Given the description of an element on the screen output the (x, y) to click on. 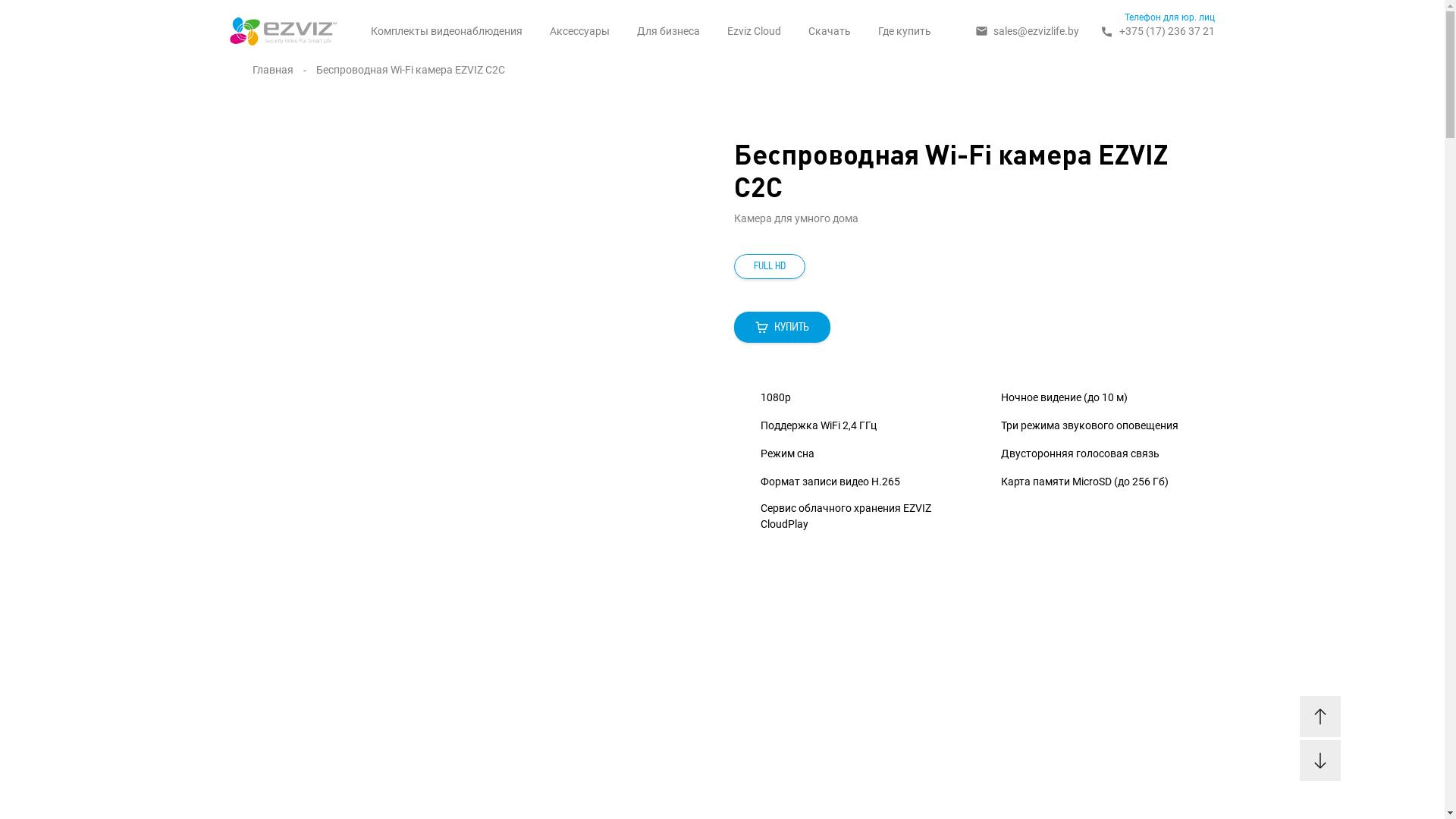
Ezviz Cloud Element type: text (754, 31)
sales@ezvizlife.by Element type: text (1027, 31)
+375 (17) 236 37 21 Element type: text (1157, 31)
